Given the description of an element on the screen output the (x, y) to click on. 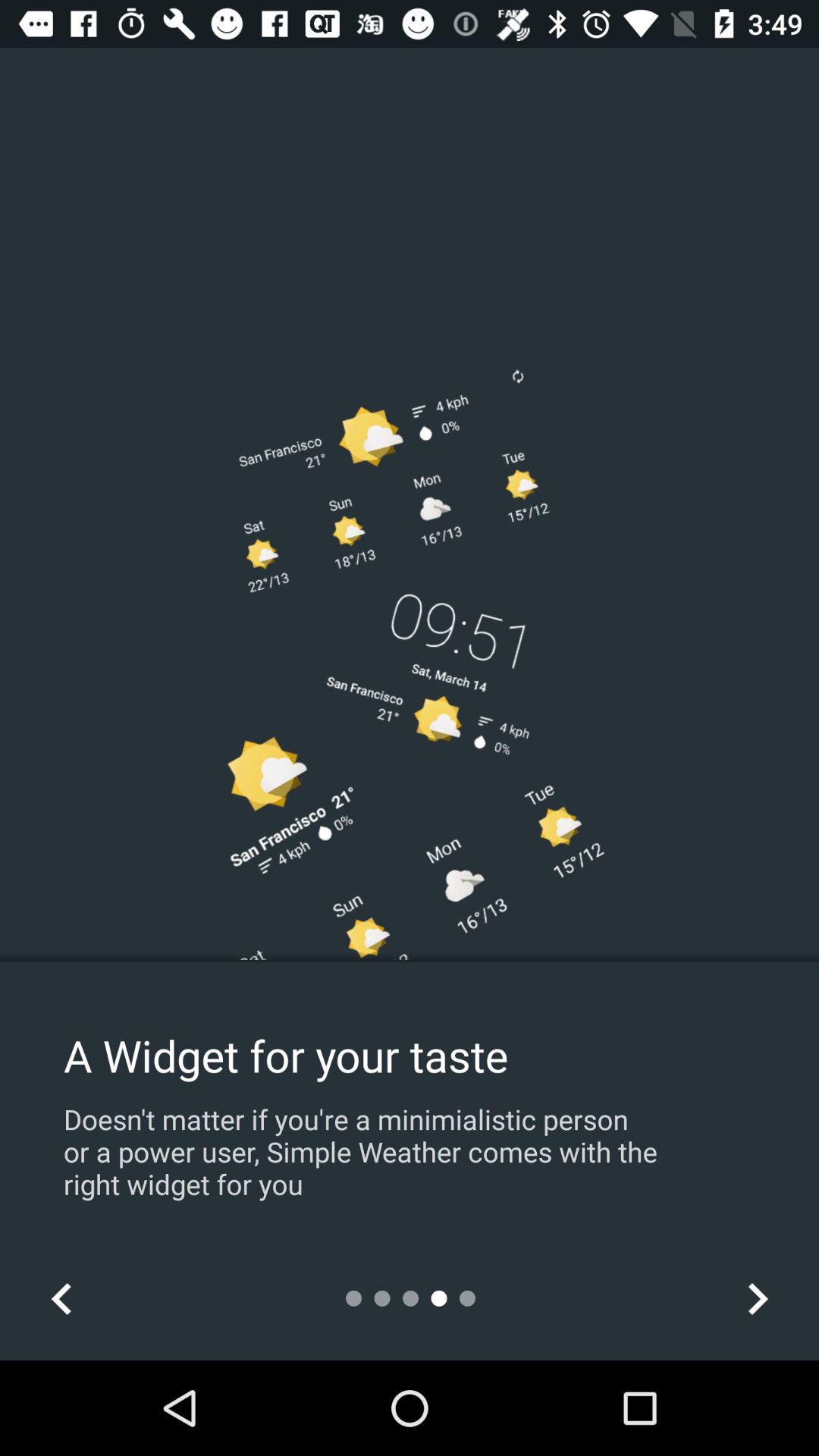
press icon at the bottom left corner (61, 1298)
